Given the description of an element on the screen output the (x, y) to click on. 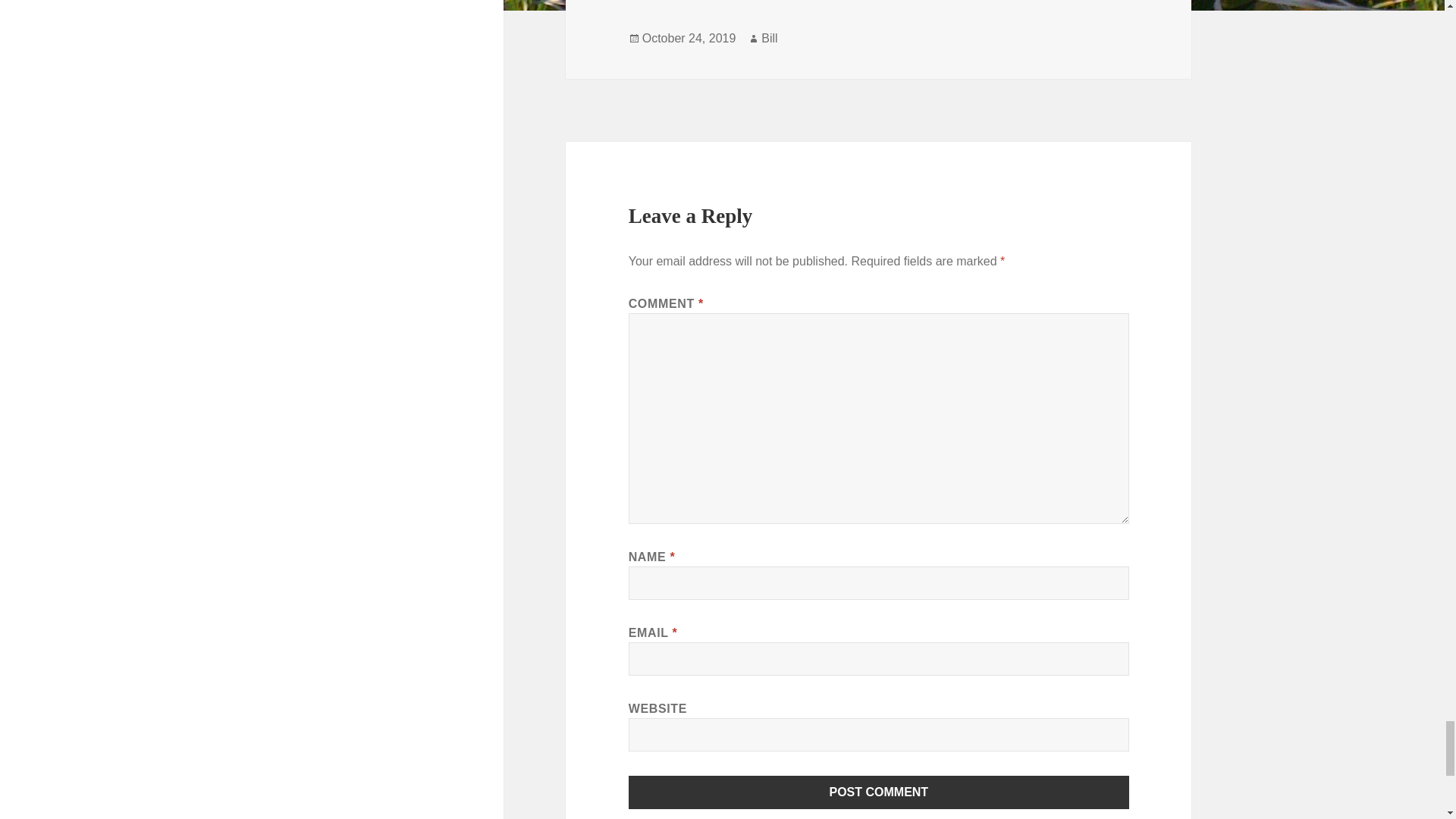
Bill (769, 38)
October 24, 2019 (689, 38)
Post Comment (878, 792)
Post Comment (878, 792)
